Given the description of an element on the screen output the (x, y) to click on. 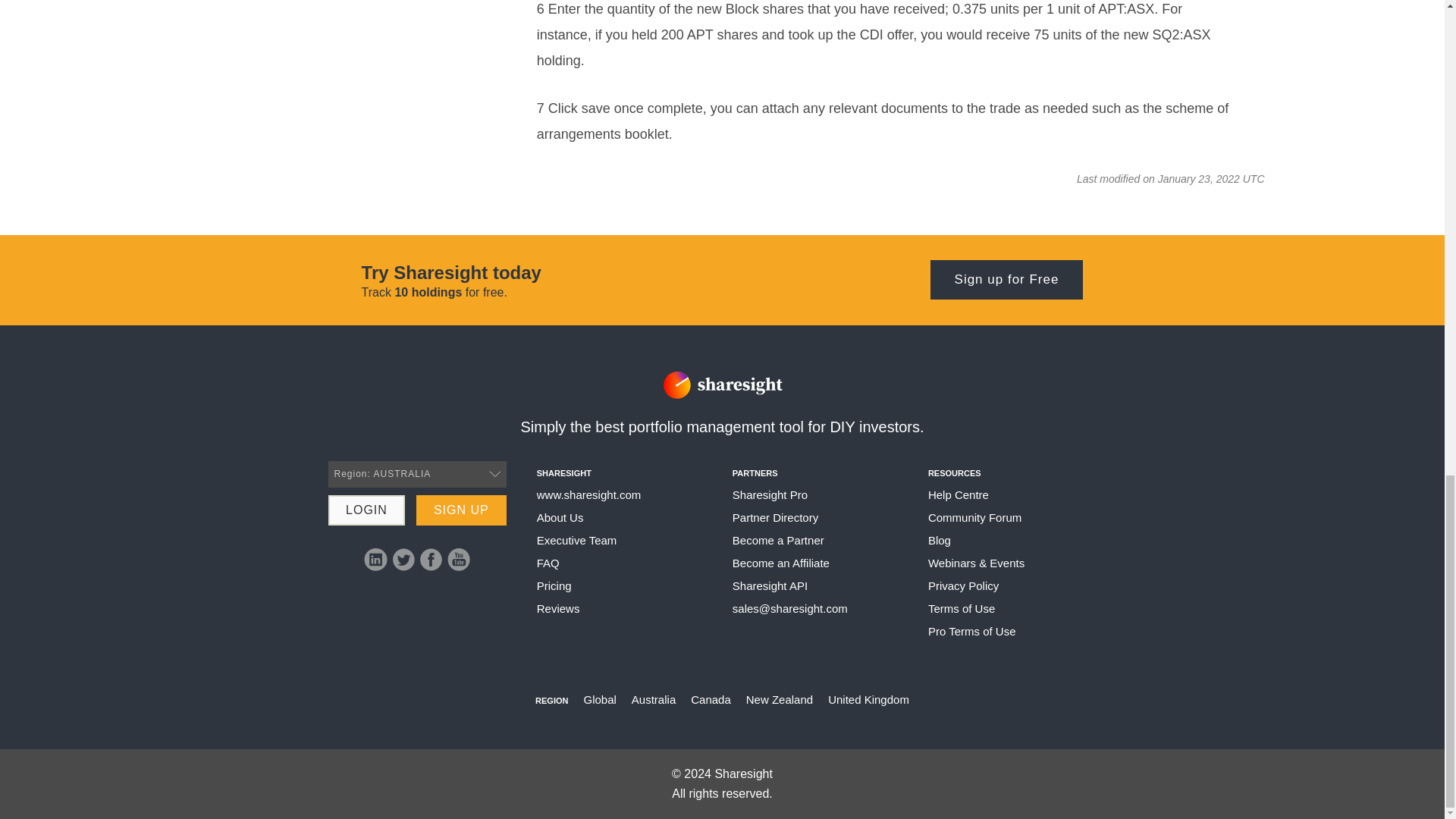
Check us out on Youtube (458, 558)
Sign up for Sharesight (1006, 279)
Sign up for Sharesight (461, 510)
Check us out on Facebook (431, 558)
Sharesight Australia Help  (589, 494)
Check us out on Twitter (403, 558)
Check us out on LinkedIn (375, 558)
Login to Sharesight (366, 510)
